Given the description of an element on the screen output the (x, y) to click on. 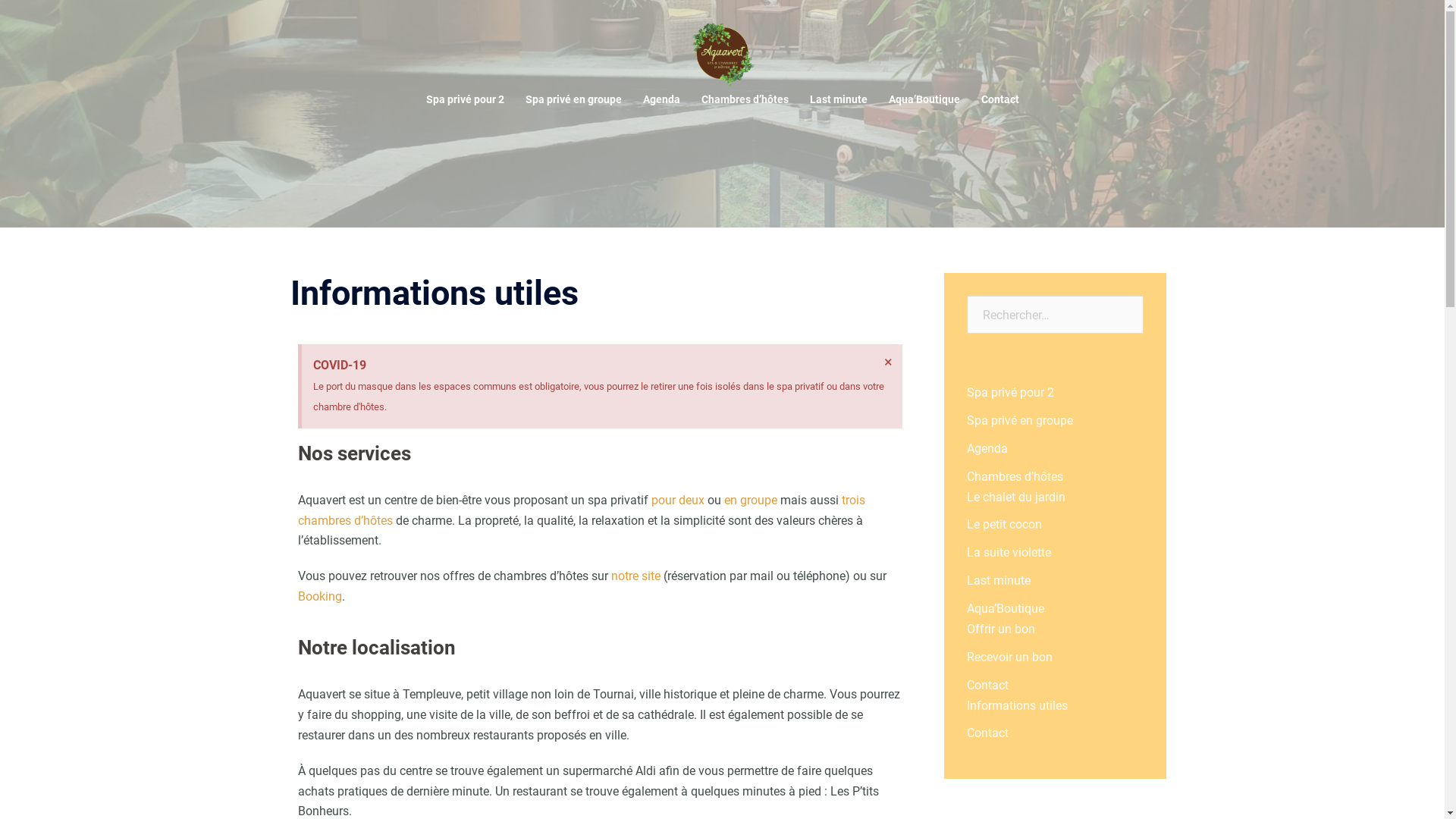
notre site Element type: text (635, 575)
Le chalet du jardin Element type: text (1015, 496)
La suite violette Element type: text (1008, 552)
Contact Element type: text (1000, 100)
Booking Element type: text (319, 596)
Le petit cocon Element type: text (1003, 524)
Rechercher Element type: text (61, 18)
Contact Element type: text (987, 684)
Last minute Element type: text (838, 100)
Agenda Element type: text (661, 100)
Agenda Element type: text (986, 448)
Offrir un bon Element type: text (1000, 628)
Recevoir un bon Element type: text (1009, 656)
Last minute Element type: text (998, 580)
pour deux Element type: text (676, 499)
Contact Element type: text (987, 732)
Informations utiles Element type: text (1016, 704)
en groupe Element type: text (749, 499)
Aquavert Element type: hover (722, 51)
